Given the description of an element on the screen output the (x, y) to click on. 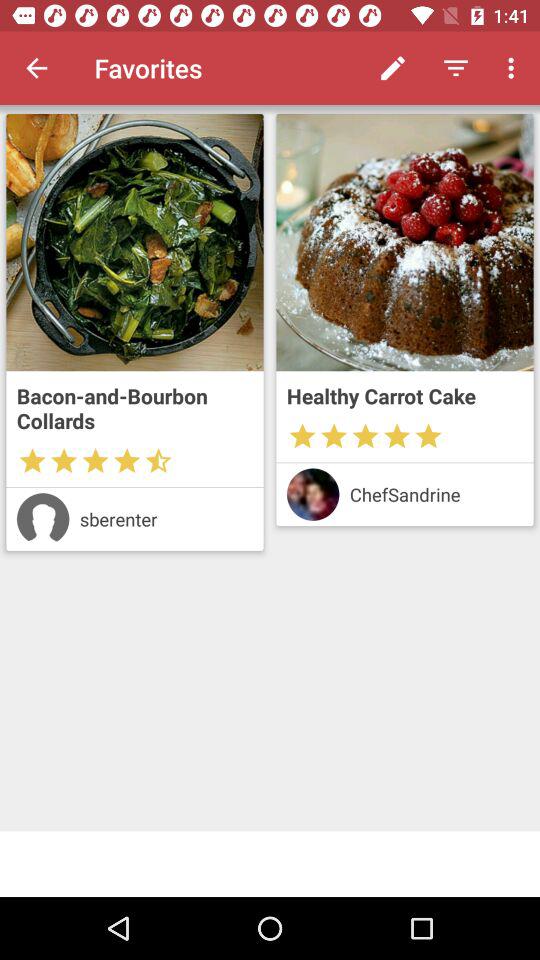
select the healthy carrot cake (404, 395)
